Given the description of an element on the screen output the (x, y) to click on. 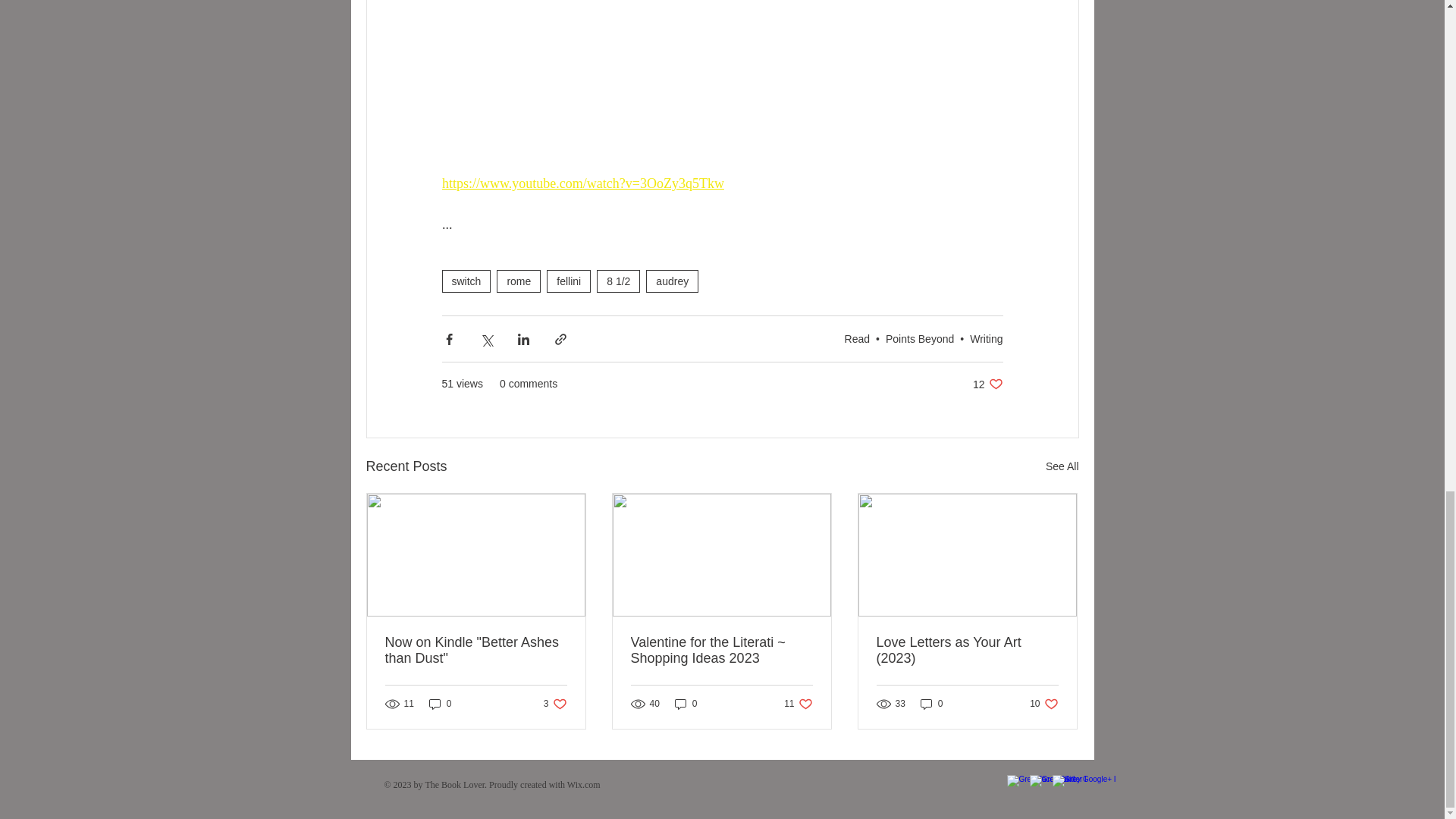
fellini (569, 281)
rome (518, 281)
Read (856, 337)
Writing (986, 337)
0 (798, 703)
switch (1043, 703)
Points Beyond (440, 703)
0 (987, 383)
See All (465, 281)
audrey (919, 337)
Now on Kindle "Better Ashes than Dust" (685, 703)
